Given the description of an element on the screen output the (x, y) to click on. 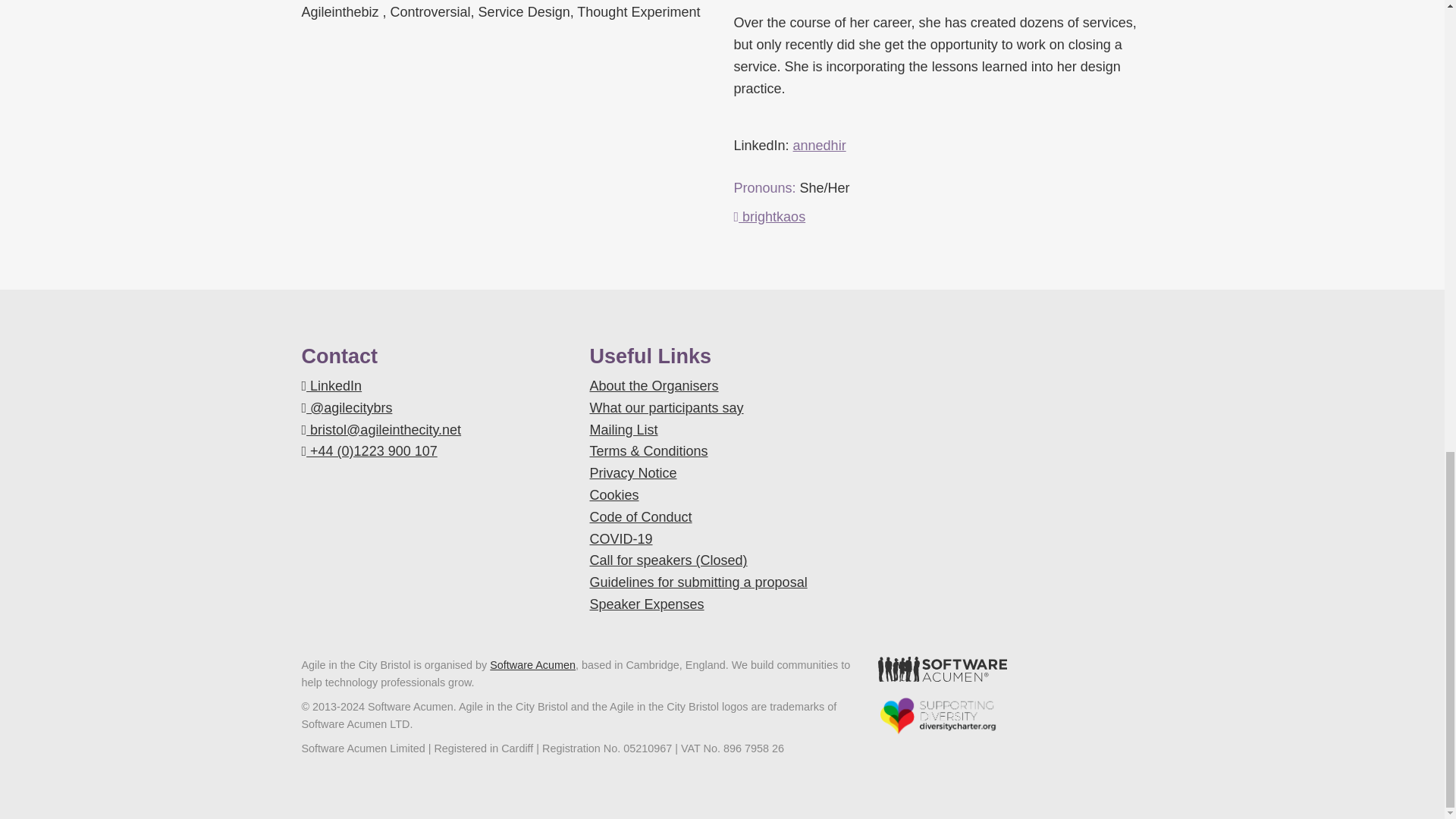
brightkaos (769, 216)
LinkedIn (331, 385)
Privacy Notice (633, 473)
Mailing List (623, 429)
COVID-19 (620, 539)
About the Organisers (653, 385)
Cookies (614, 494)
Guidelines for submitting a proposal (697, 581)
Software Acumen (532, 664)
annedhir (819, 145)
